Given the description of an element on the screen output the (x, y) to click on. 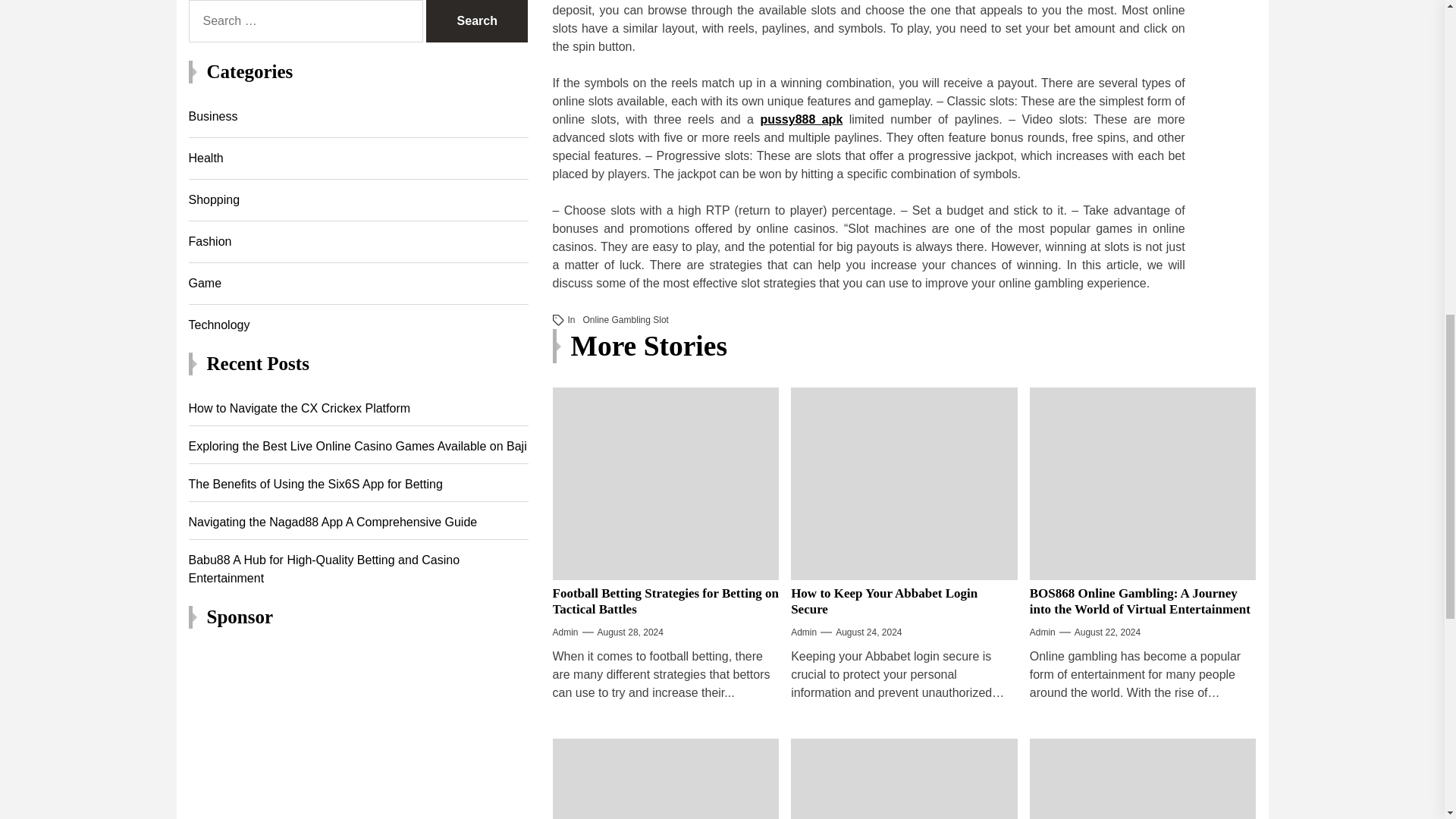
Football Betting Strategies for Betting on Tactical Battles (664, 600)
Admin (803, 632)
pussy888 apk (801, 119)
How to Keep Your Abbabet Login Secure (883, 600)
Online Gambling Slot (625, 319)
Admin (564, 632)
August 28, 2024 (629, 632)
